Given the description of an element on the screen output the (x, y) to click on. 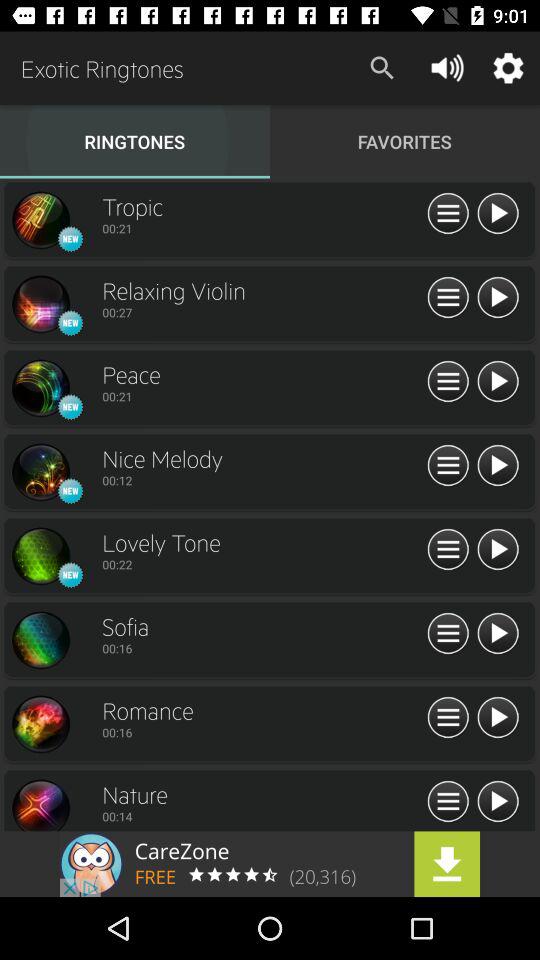
play this (497, 549)
